Given the description of an element on the screen output the (x, y) to click on. 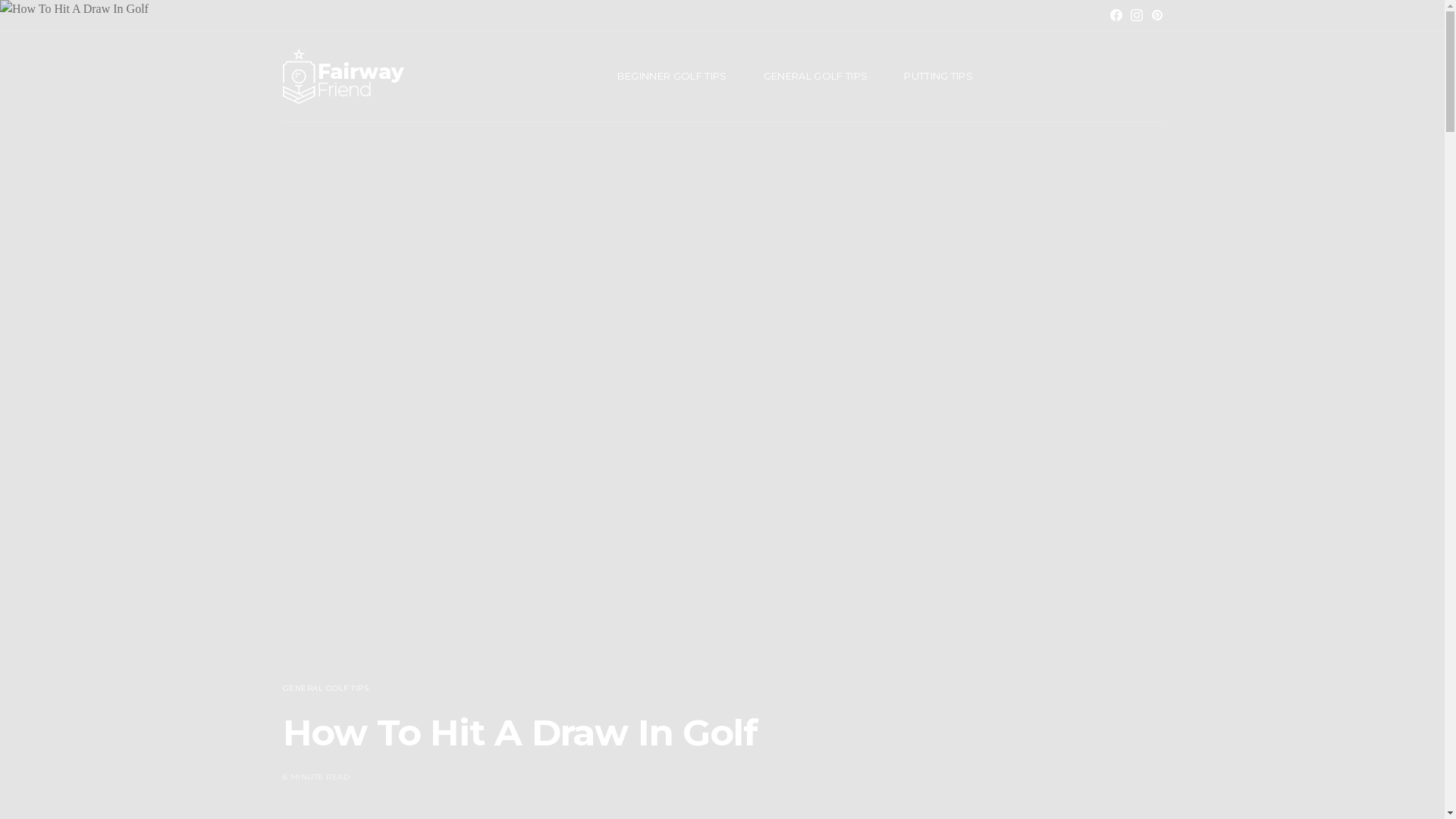
GENERAL GOLF TIPS Element type: text (815, 76)
BEGINNER GOLF TIPS Element type: text (672, 76)
GENERAL GOLF TIPS Element type: text (325, 688)
PUTTING TIPS Element type: text (937, 76)
